Given the description of an element on the screen output the (x, y) to click on. 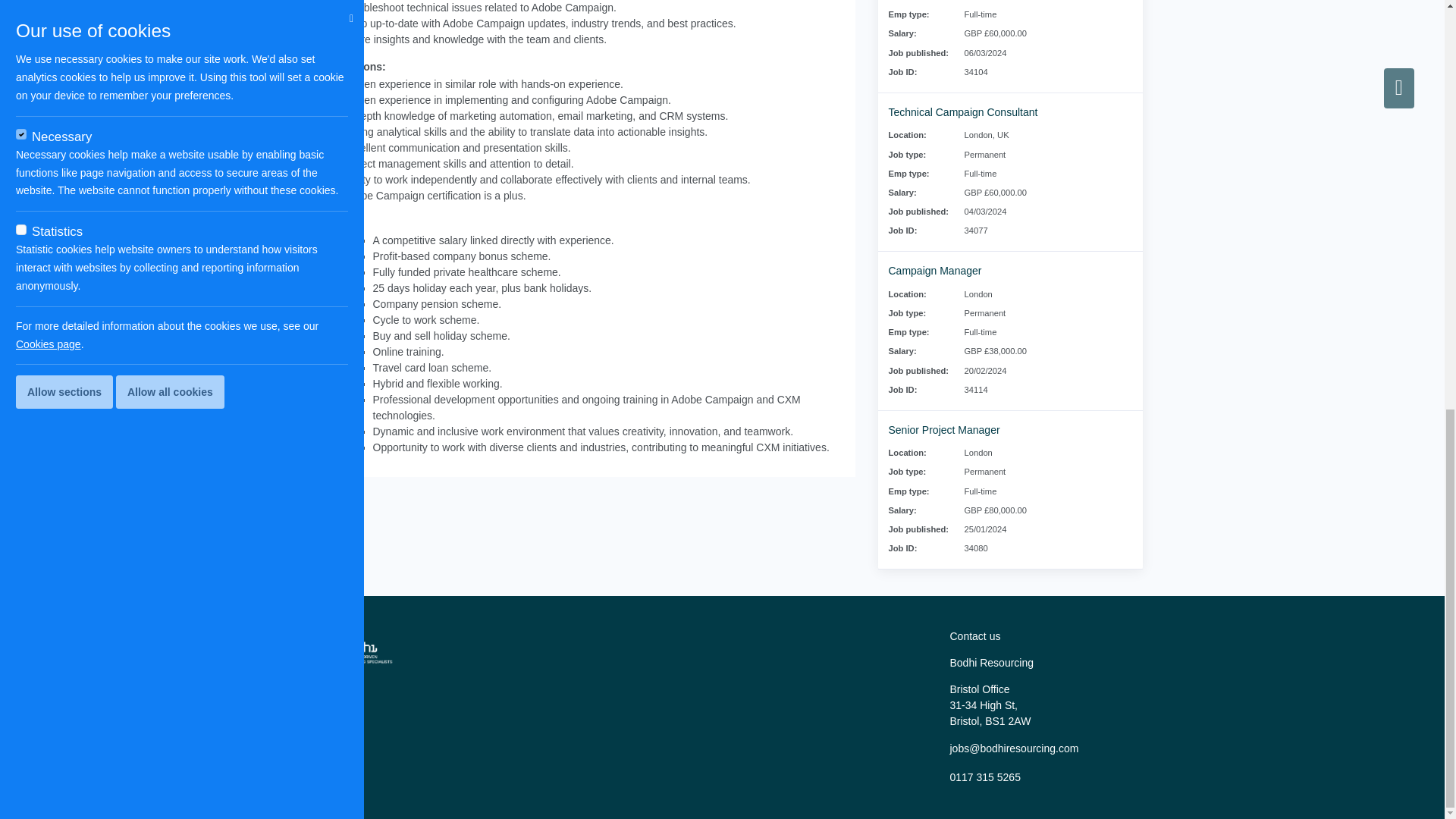
Campaign Manager (934, 270)
Technical Campaign Consultant (963, 111)
0117 315 5265 (984, 776)
Senior Project Manager (944, 429)
